Given the description of an element on the screen output the (x, y) to click on. 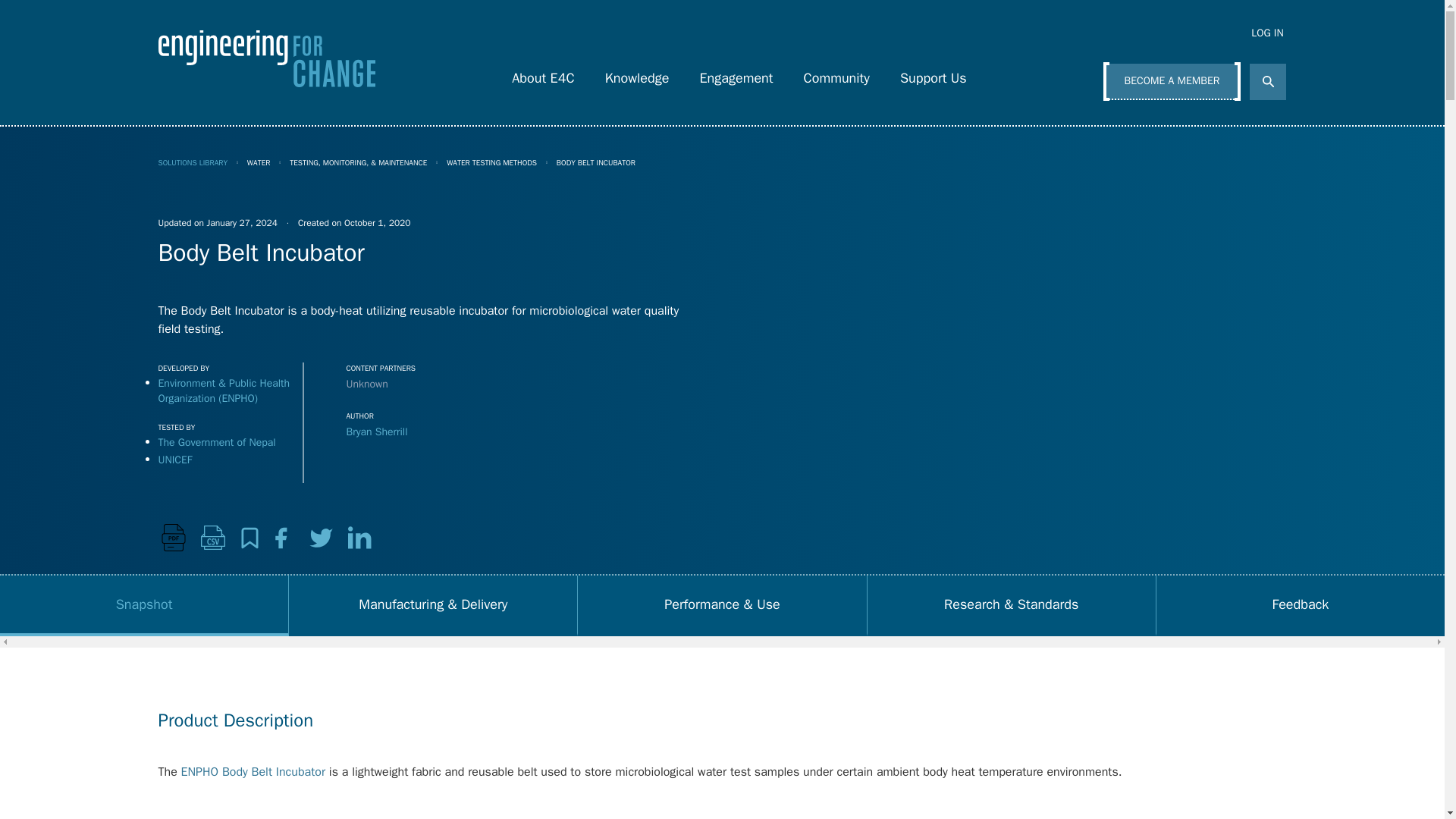
BECOME A MEMBER (1172, 81)
Download (172, 537)
About E4C (542, 73)
LOG IN (1255, 33)
twitter (320, 537)
Download (212, 537)
linkedin (360, 537)
Log in to bookmark (248, 536)
SOLUTIONS LIBRARY (192, 162)
facebook (281, 537)
